Given the description of an element on the screen output the (x, y) to click on. 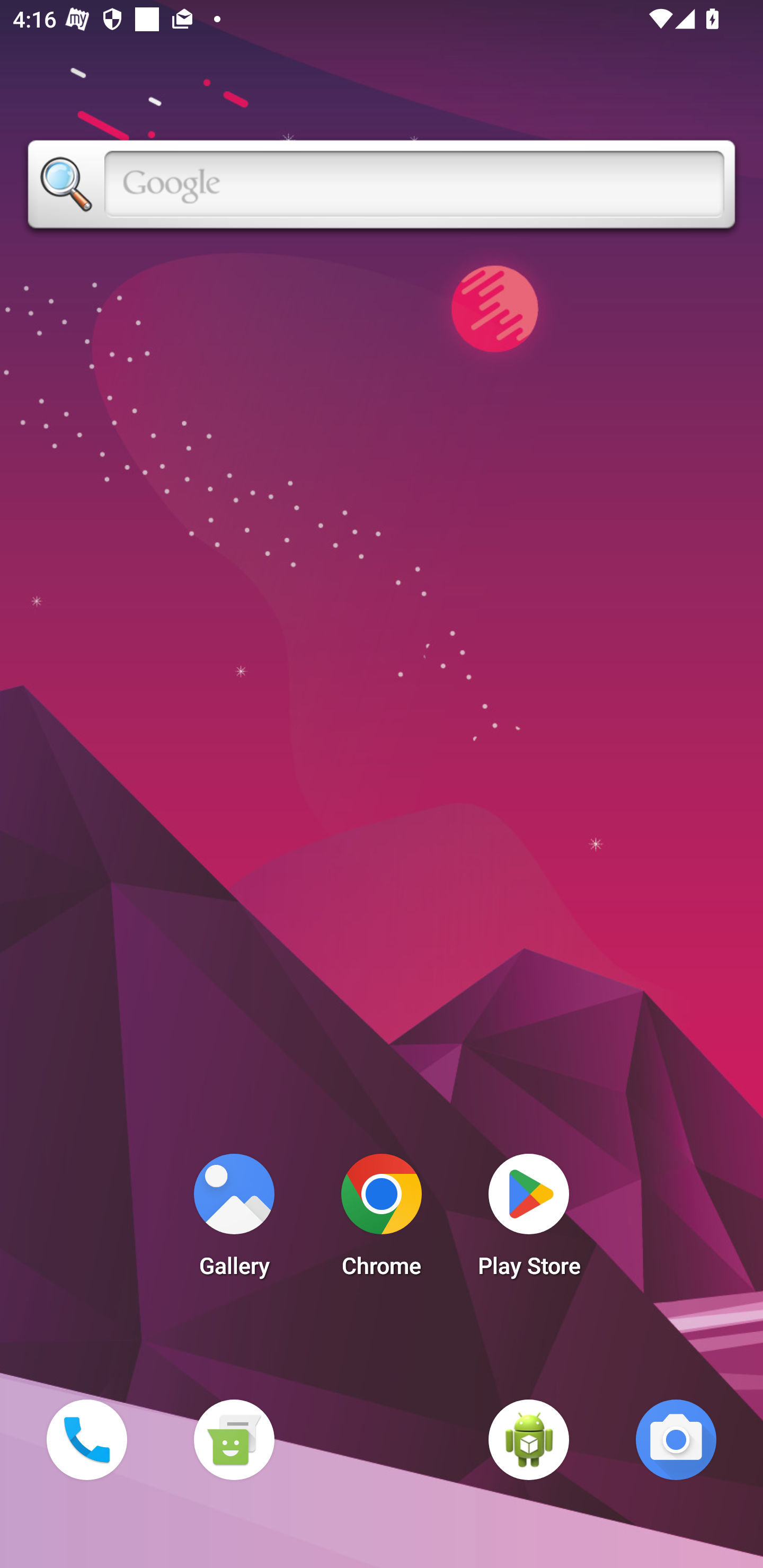
Gallery (233, 1220)
Chrome (381, 1220)
Play Store (528, 1220)
Phone (86, 1439)
Messaging (233, 1439)
WebView Browser Tester (528, 1439)
Camera (676, 1439)
